Given the description of an element on the screen output the (x, y) to click on. 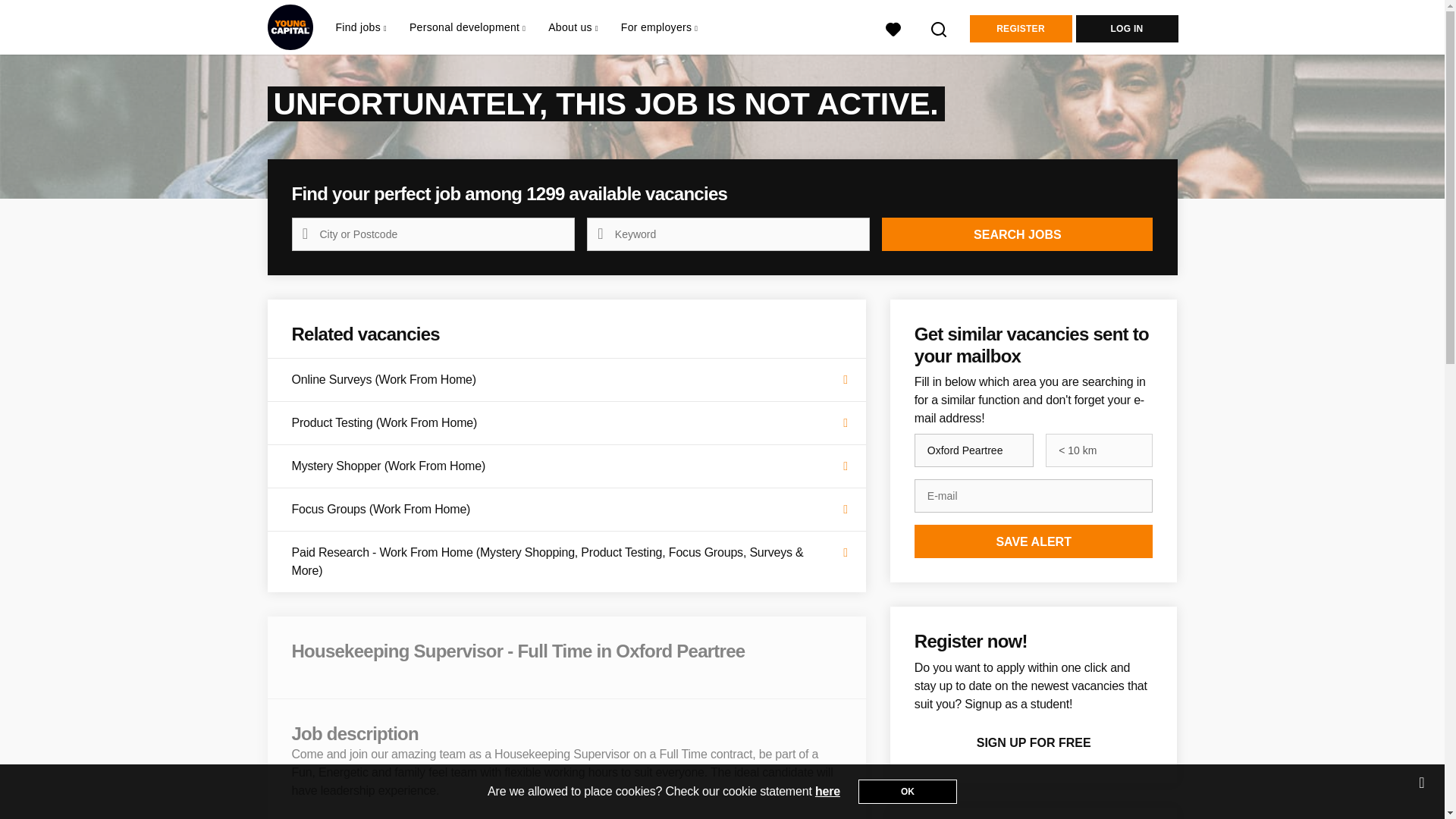
Oxford Peartree (973, 450)
StudentJob UK (289, 26)
